Given the description of an element on the screen output the (x, y) to click on. 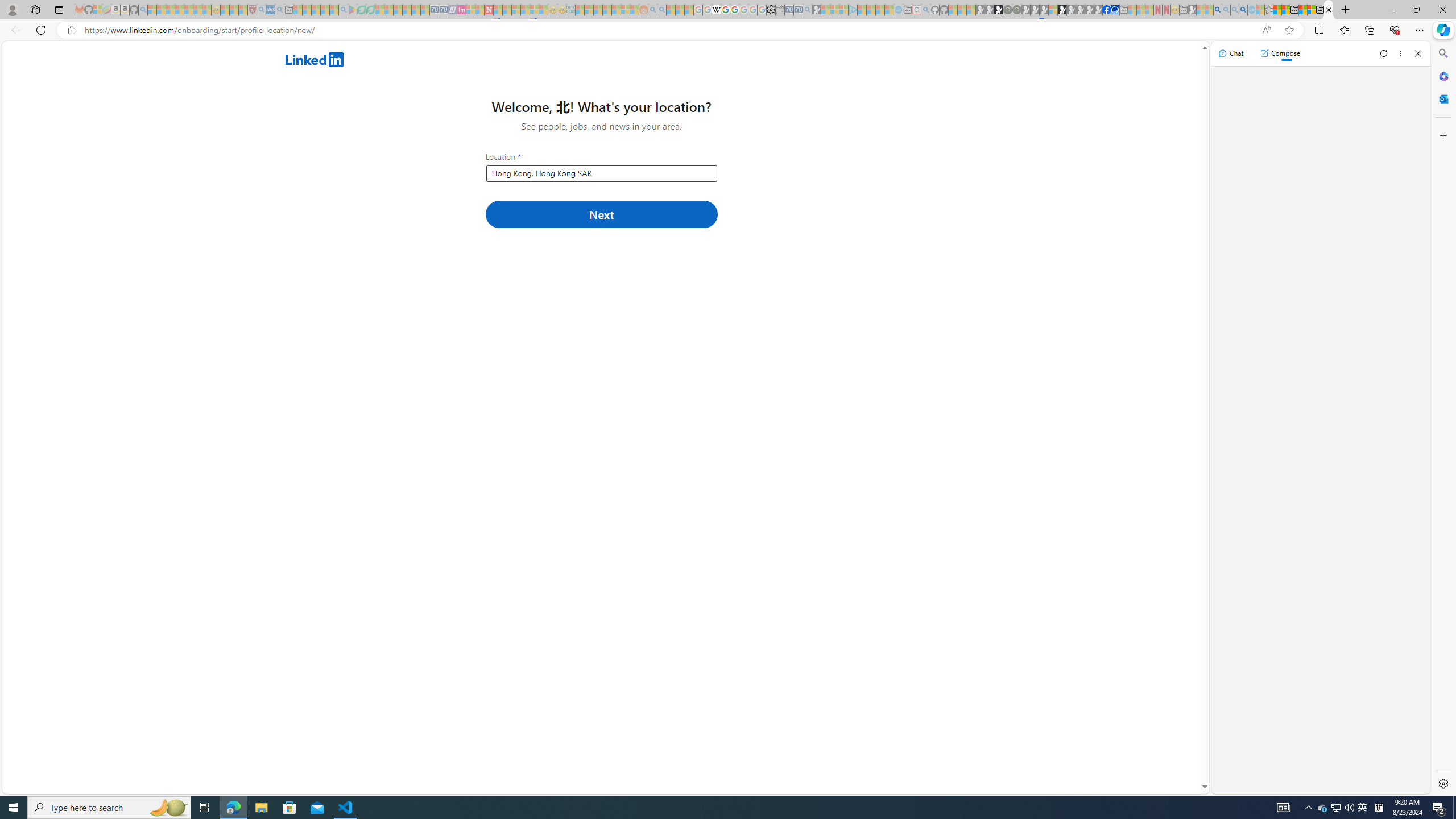
Trusted Community Engagement and Contributions | Guidelines (497, 9)
Kinda Frugal - MSN - Sleeping (616, 9)
Terms of Use Agreement - Sleeping (361, 9)
New Report Confirms 2023 Was Record Hot | Watch - Sleeping (188, 9)
Local - MSN - Sleeping (242, 9)
